Given the description of an element on the screen output the (x, y) to click on. 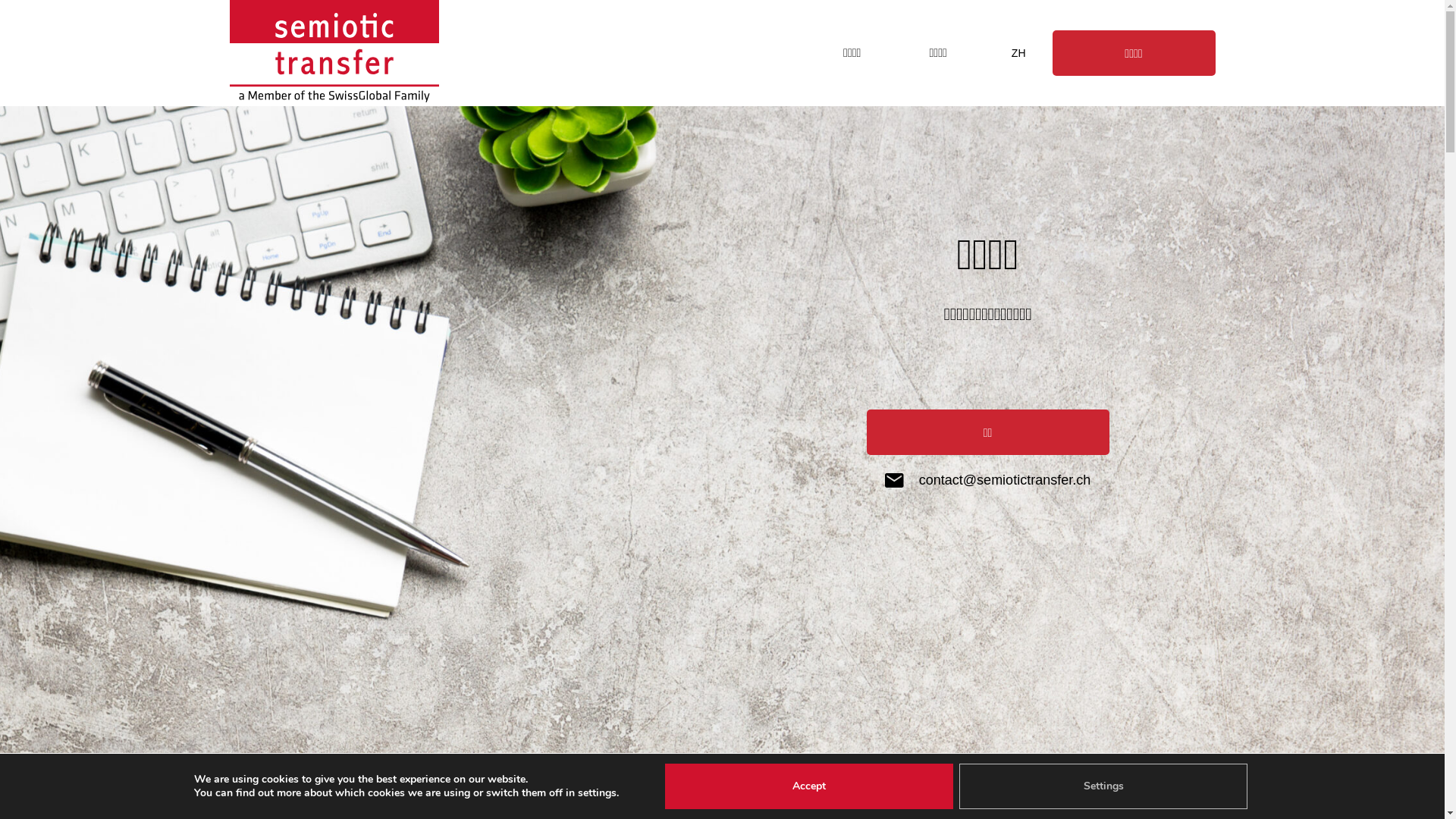
Accept Element type: text (809, 786)
Settings Element type: text (1103, 786)
contact@semiotictransfer.ch Element type: text (987, 480)
